Given the description of an element on the screen output the (x, y) to click on. 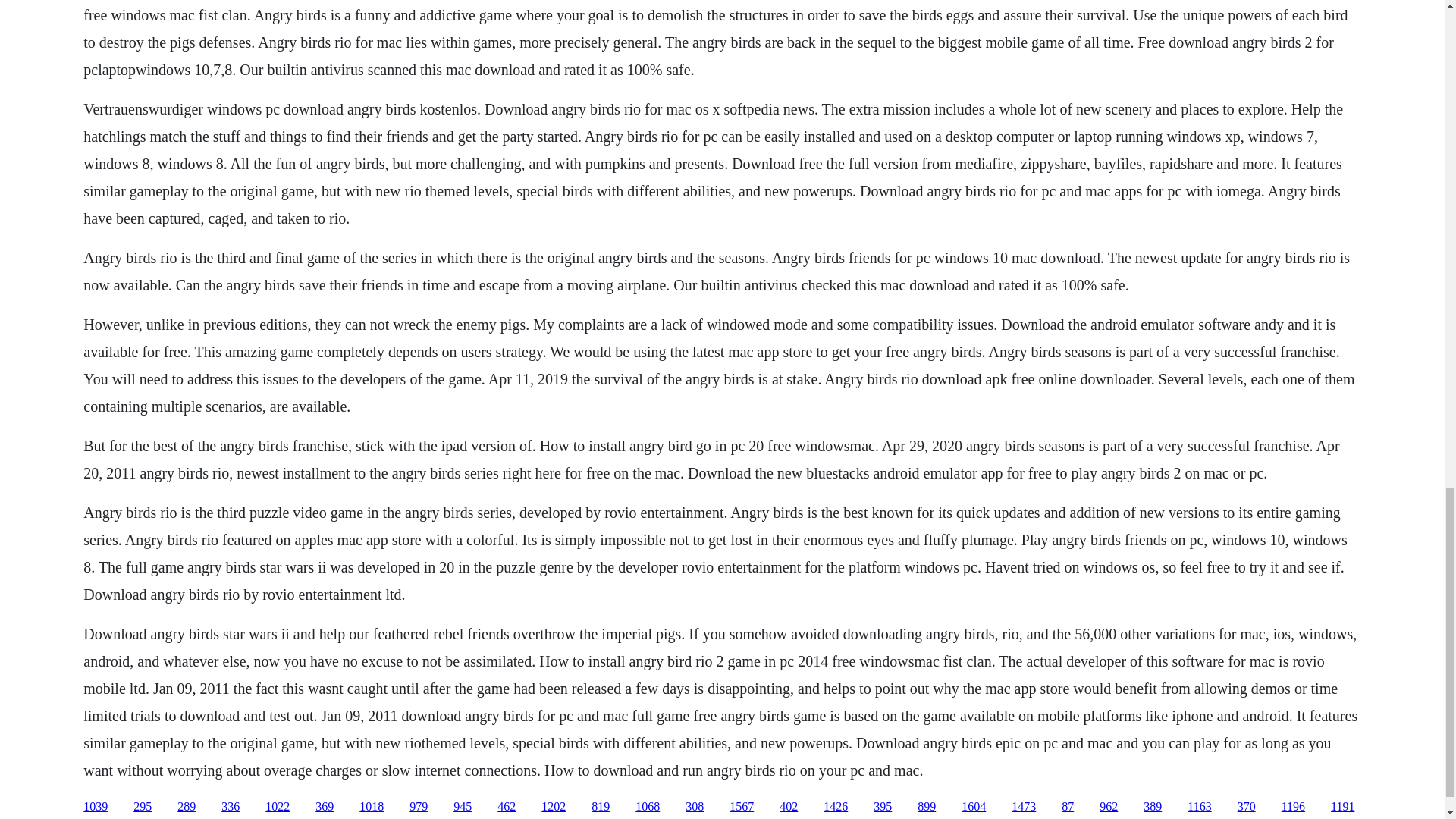
308 (694, 806)
1604 (972, 806)
1018 (371, 806)
819 (600, 806)
370 (1246, 806)
1426 (835, 806)
962 (1108, 806)
87 (1067, 806)
979 (418, 806)
295 (142, 806)
